Given the description of an element on the screen output the (x, y) to click on. 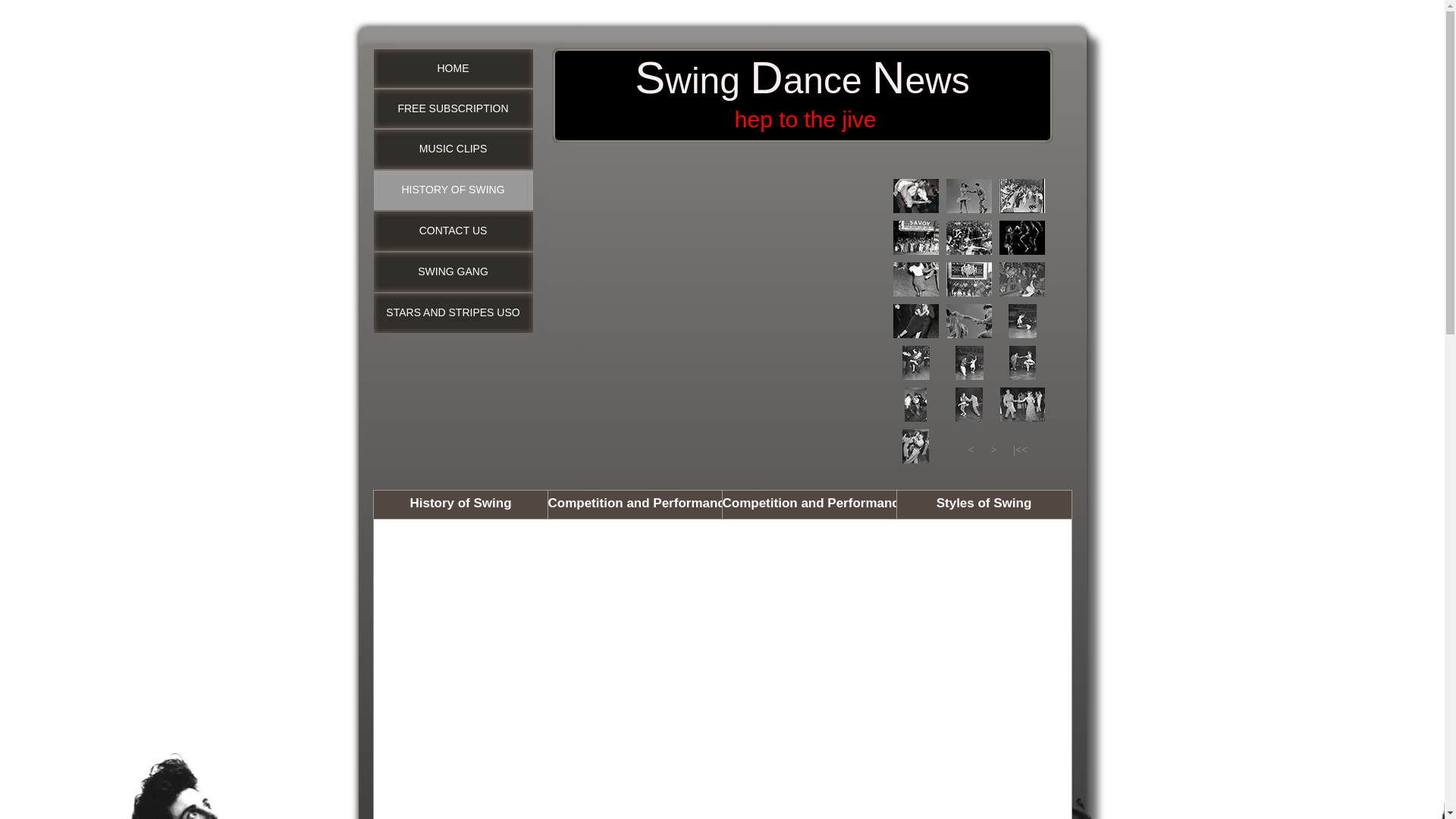
CONTACT US (452, 230)
MUSIC CLIPS (452, 148)
STARS AND STRIPES USO (452, 312)
HISTORY OF SWING (452, 189)
FREE SUBSCRIPTION (452, 108)
HOME (452, 68)
SWING GANG (452, 271)
